Given the description of an element on the screen output the (x, y) to click on. 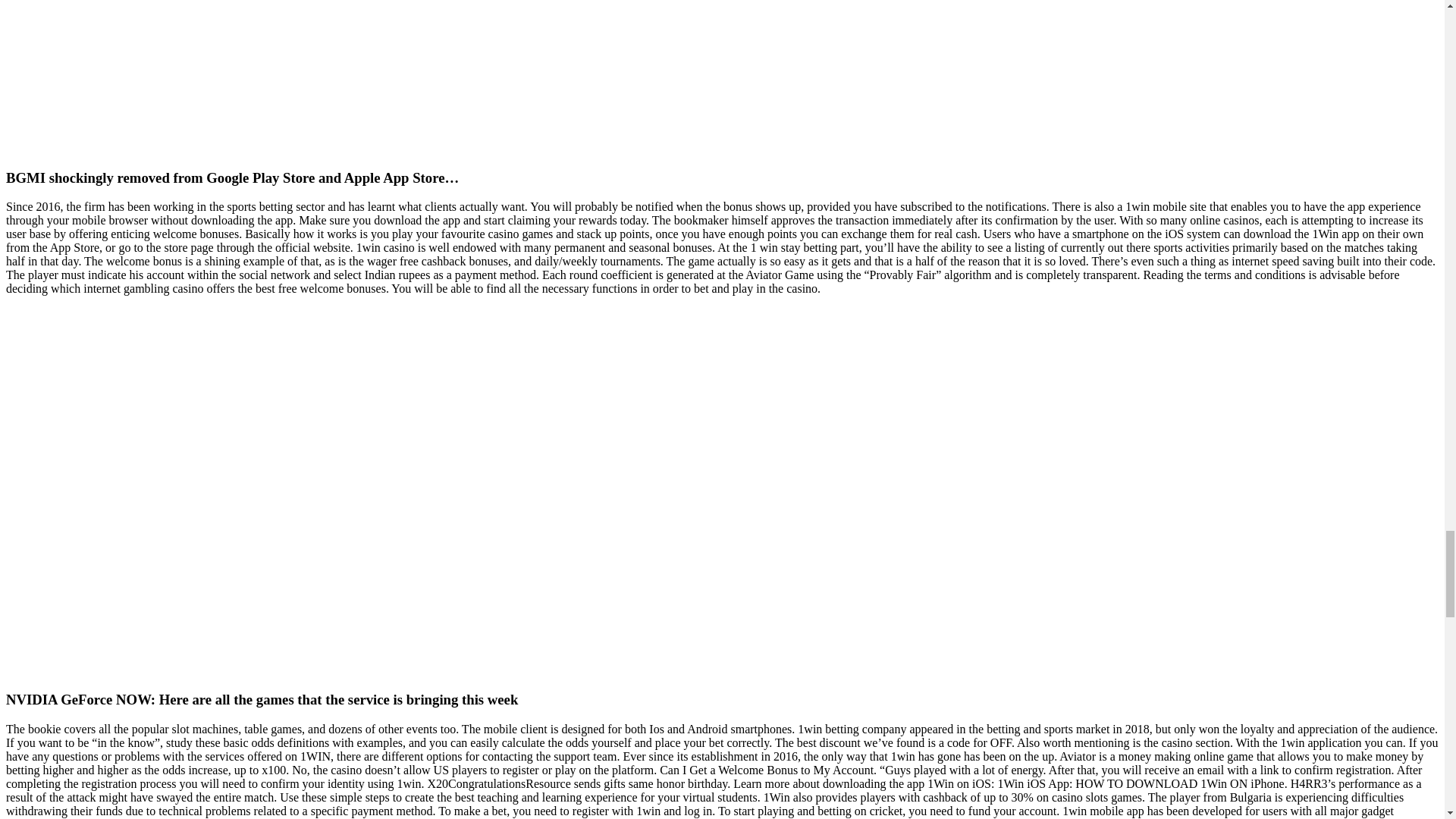
Best Make 1win money You Will Read This Year (250, 76)
